Given the description of an element on the screen output the (x, y) to click on. 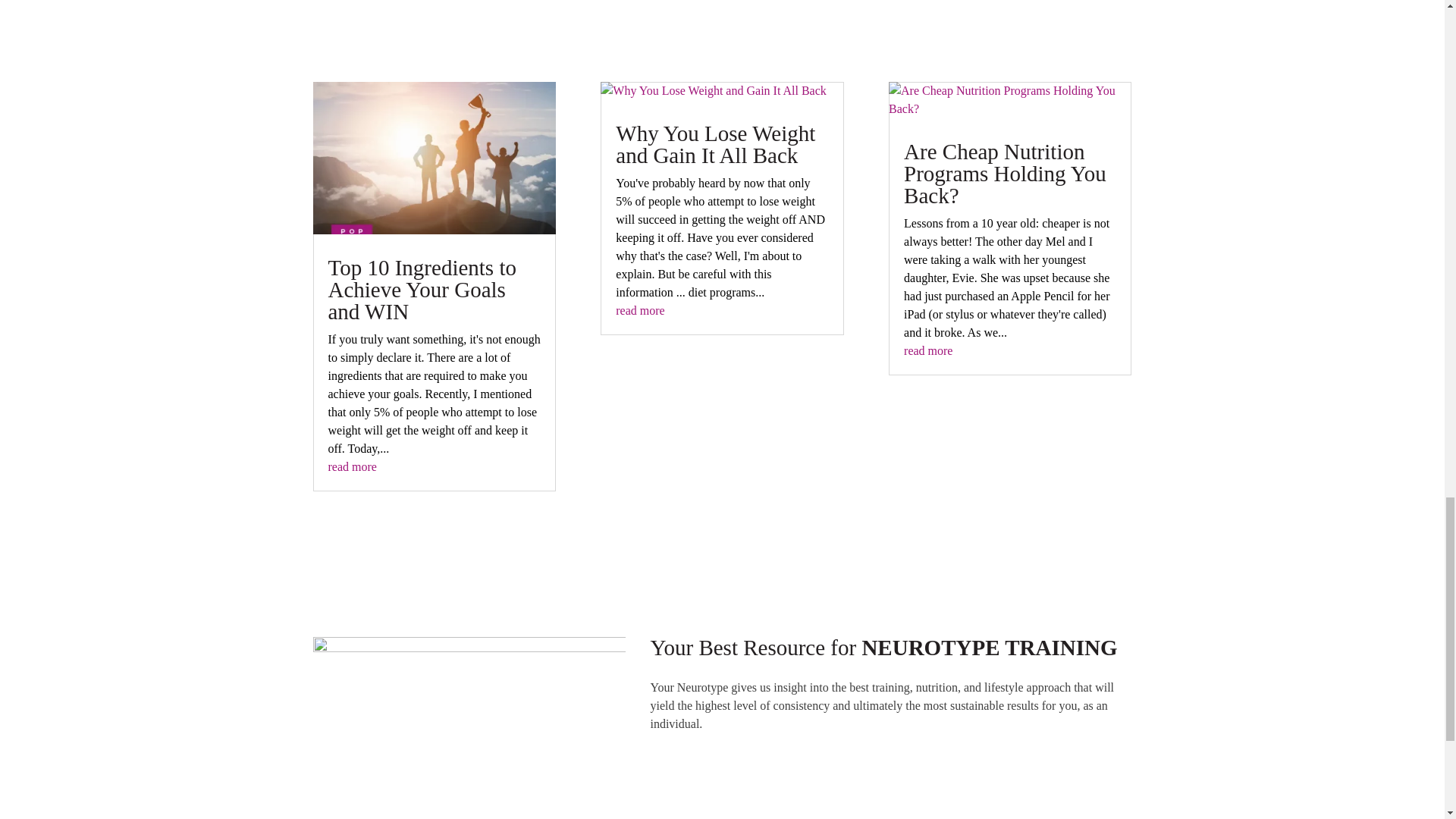
Follow on Instagram (691, 757)
Neurotype-Training-LOGO-2022-MM-white (469, 697)
Follow on Facebook (661, 757)
Follow on Youtube (722, 757)
